Given the description of an element on the screen output the (x, y) to click on. 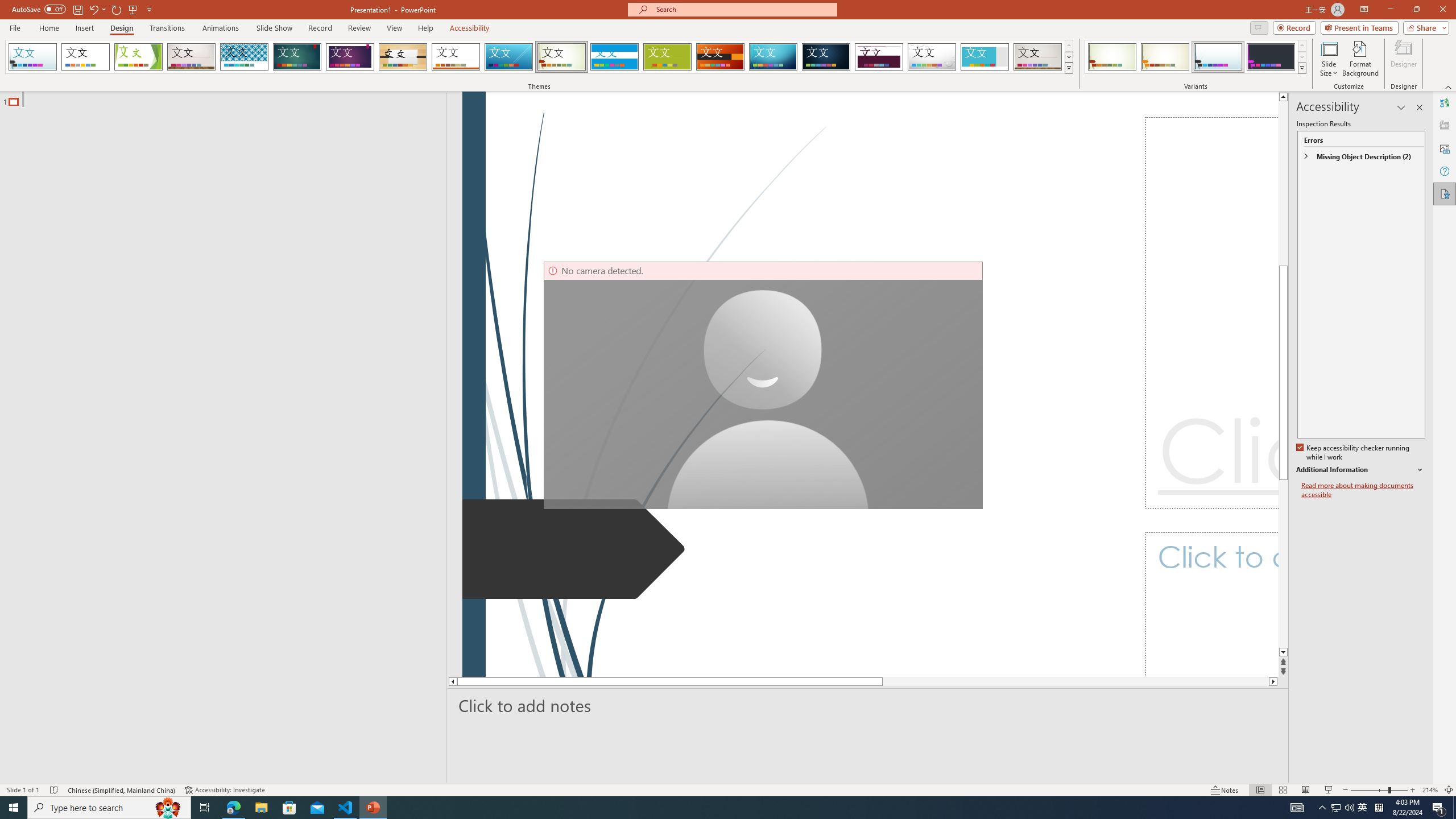
Zoom 214% (1430, 790)
Wisp Variant 1 (1112, 56)
Ion (296, 56)
Subtitle TextBox (1211, 604)
Themes (1068, 67)
Damask (826, 56)
Keep accessibility checker running while I work (1353, 452)
Wisp Variant 3 (1217, 56)
Droplet (931, 56)
